Given the description of an element on the screen output the (x, y) to click on. 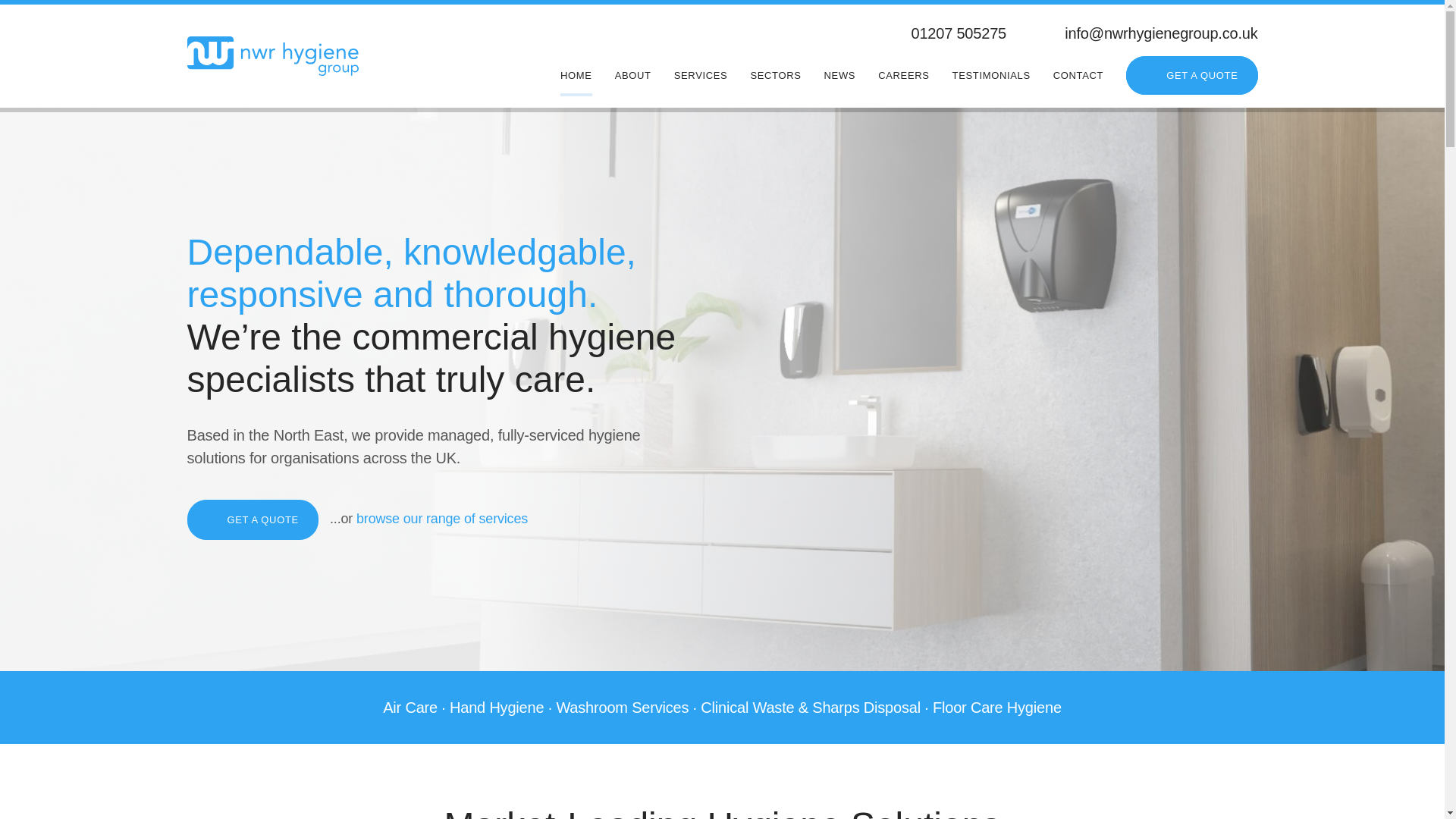
TESTIMONIALS (991, 75)
SERVICES (701, 75)
HOME (576, 75)
01207 505275 (940, 33)
NEWS (840, 75)
CONTACT (1077, 75)
GET A QUOTE (1191, 75)
SECTORS (774, 75)
CAREERS (902, 75)
ABOUT (632, 75)
